Given the description of an element on the screen output the (x, y) to click on. 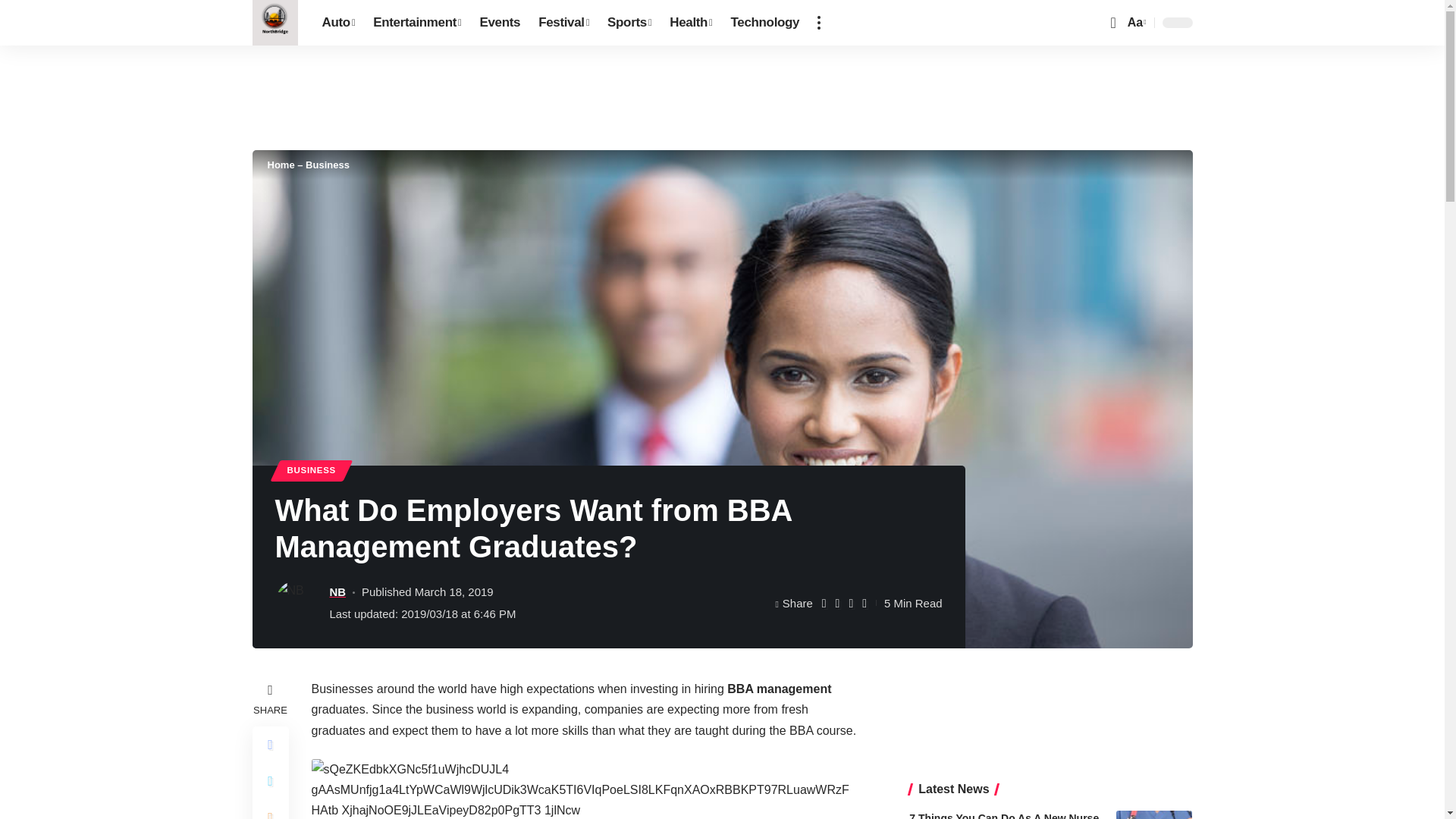
Health (690, 22)
Events (499, 22)
Technology (765, 22)
What Do Employers Want from BBA Management Graduates? 2 (587, 789)
Entertainment (417, 22)
Home (280, 164)
BUSINESS (311, 470)
Aa (1135, 22)
Festival (563, 22)
Auto (338, 22)
Sports (629, 22)
NorthBridge Times (274, 22)
Business (327, 164)
